Given the description of an element on the screen output the (x, y) to click on. 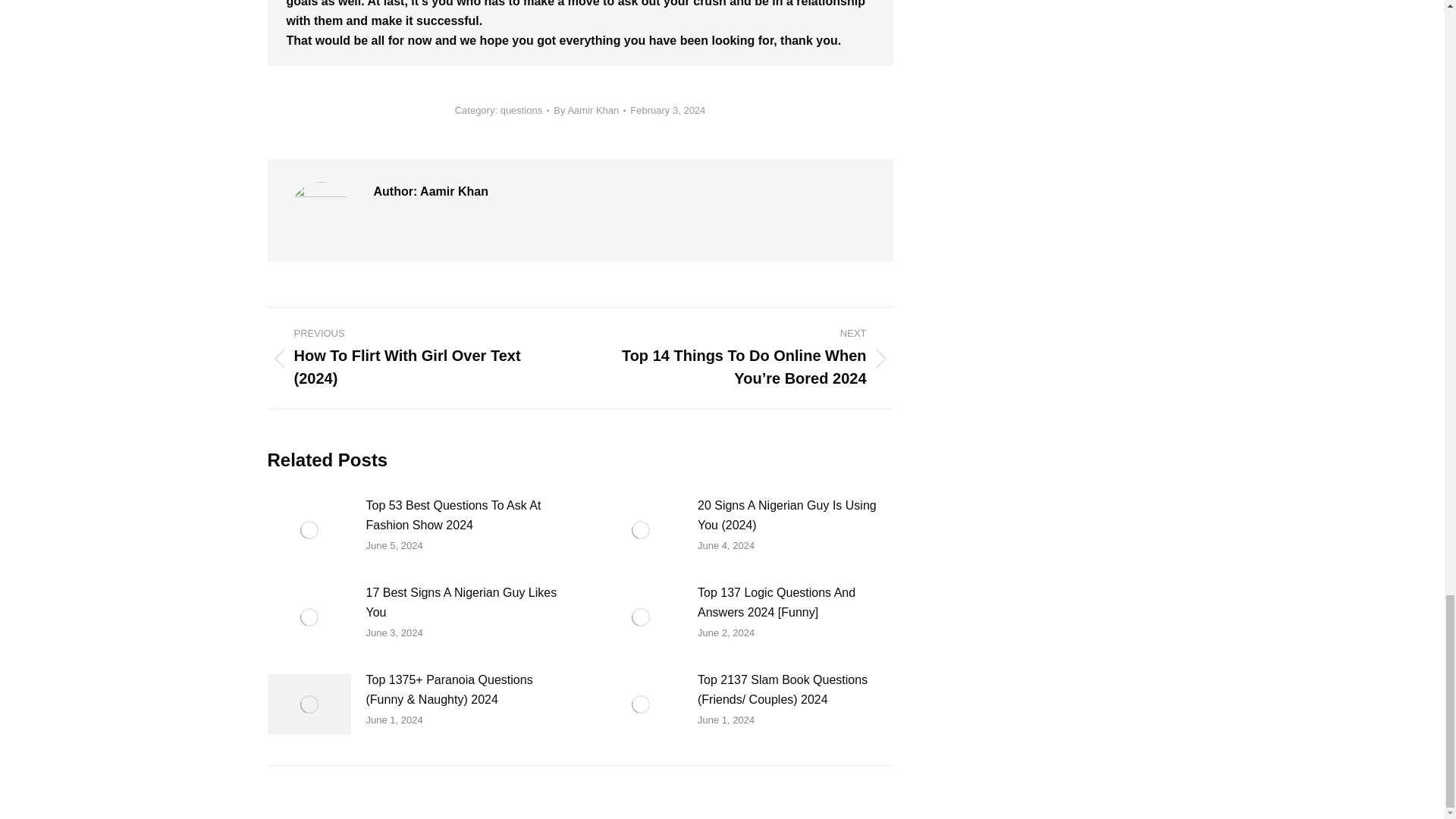
February 3, 2024 (667, 110)
questions (521, 110)
11:00 am (667, 110)
By Aamir Khan (589, 110)
View all posts by Aamir Khan (589, 110)
